Given the description of an element on the screen output the (x, y) to click on. 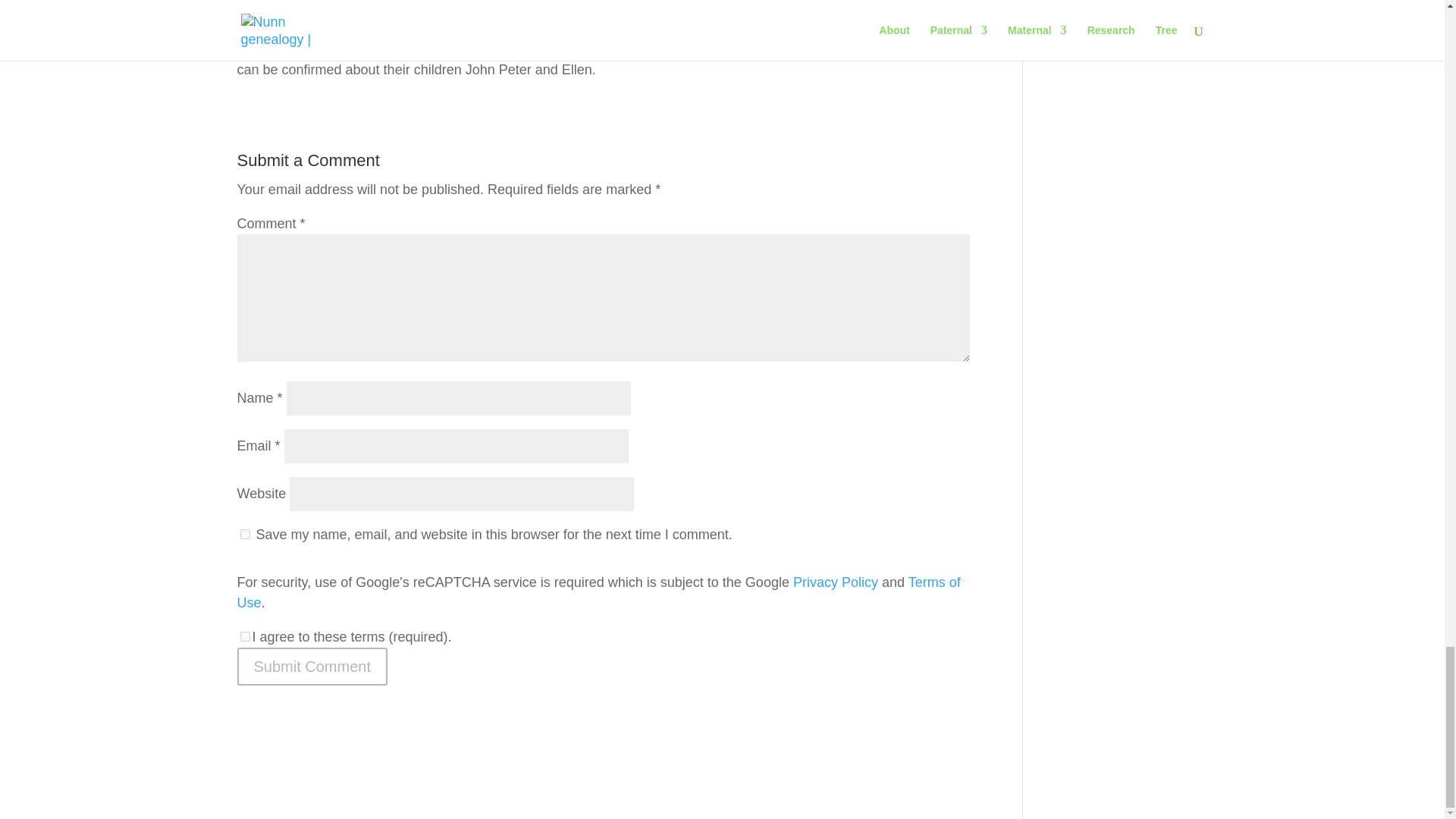
Privacy Policy (835, 581)
on (244, 636)
Submit Comment (311, 666)
Submit Comment (311, 666)
Terms of Use (597, 592)
yes (244, 533)
